Given the description of an element on the screen output the (x, y) to click on. 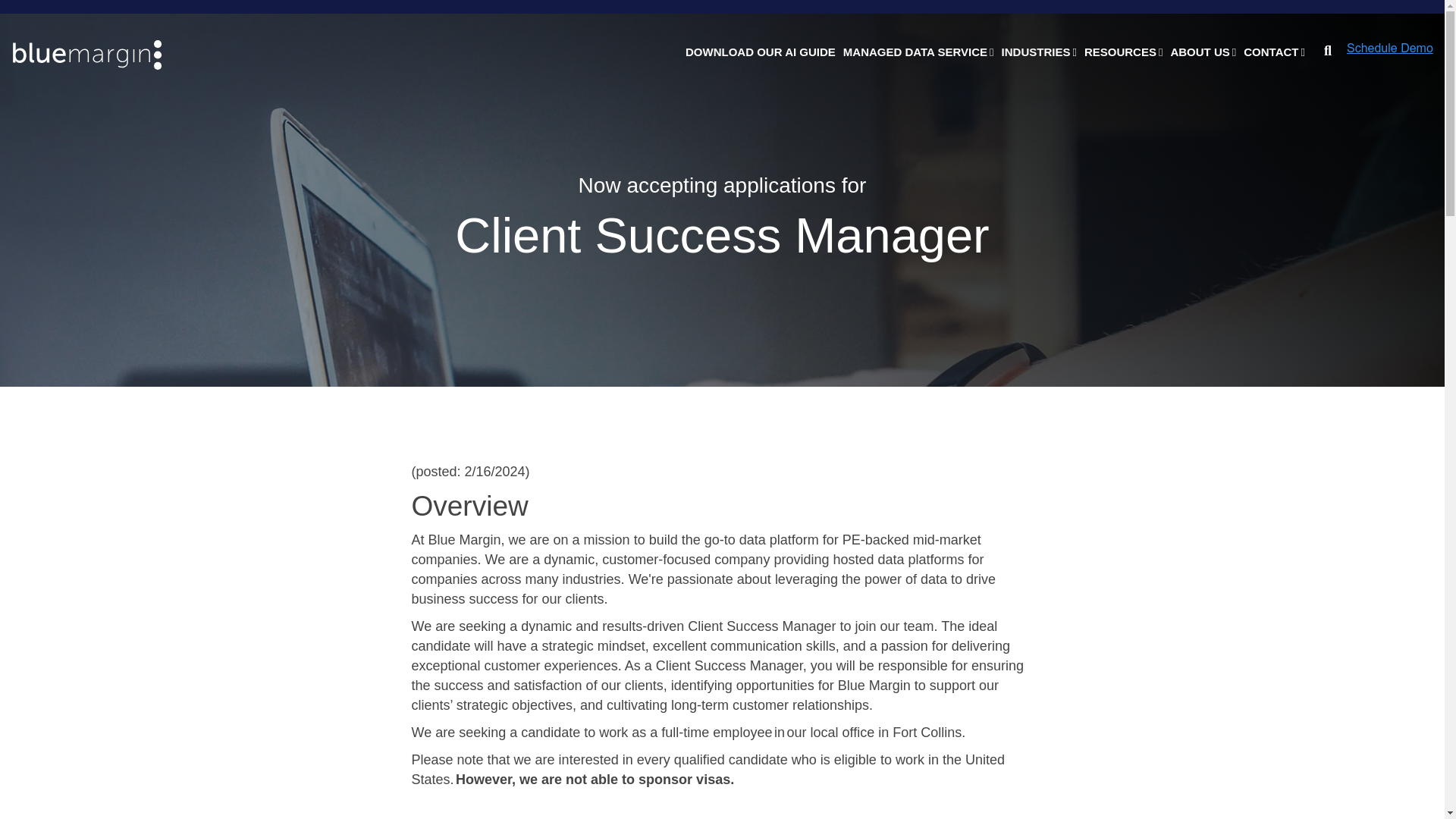
MANAGED DATA SERVICE (918, 51)
RESOURCES (1123, 51)
INDUSTRIES (1038, 51)
CONTACT (1274, 51)
DOWNLOAD OUR AI GUIDE (760, 51)
ABOUT US (1203, 51)
